Given the description of an element on the screen output the (x, y) to click on. 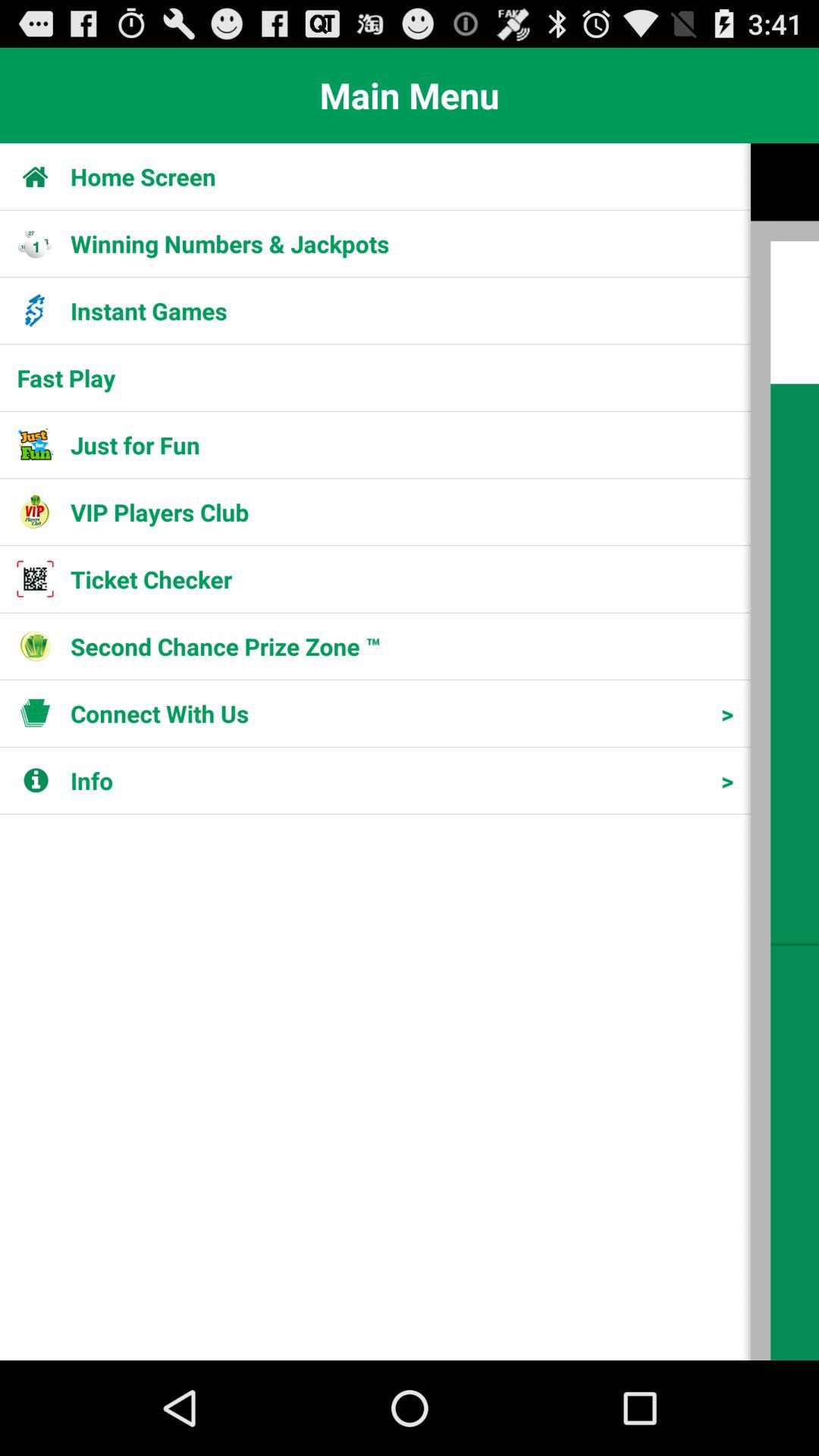
return to previous page (784, 751)
